Given the description of an element on the screen output the (x, y) to click on. 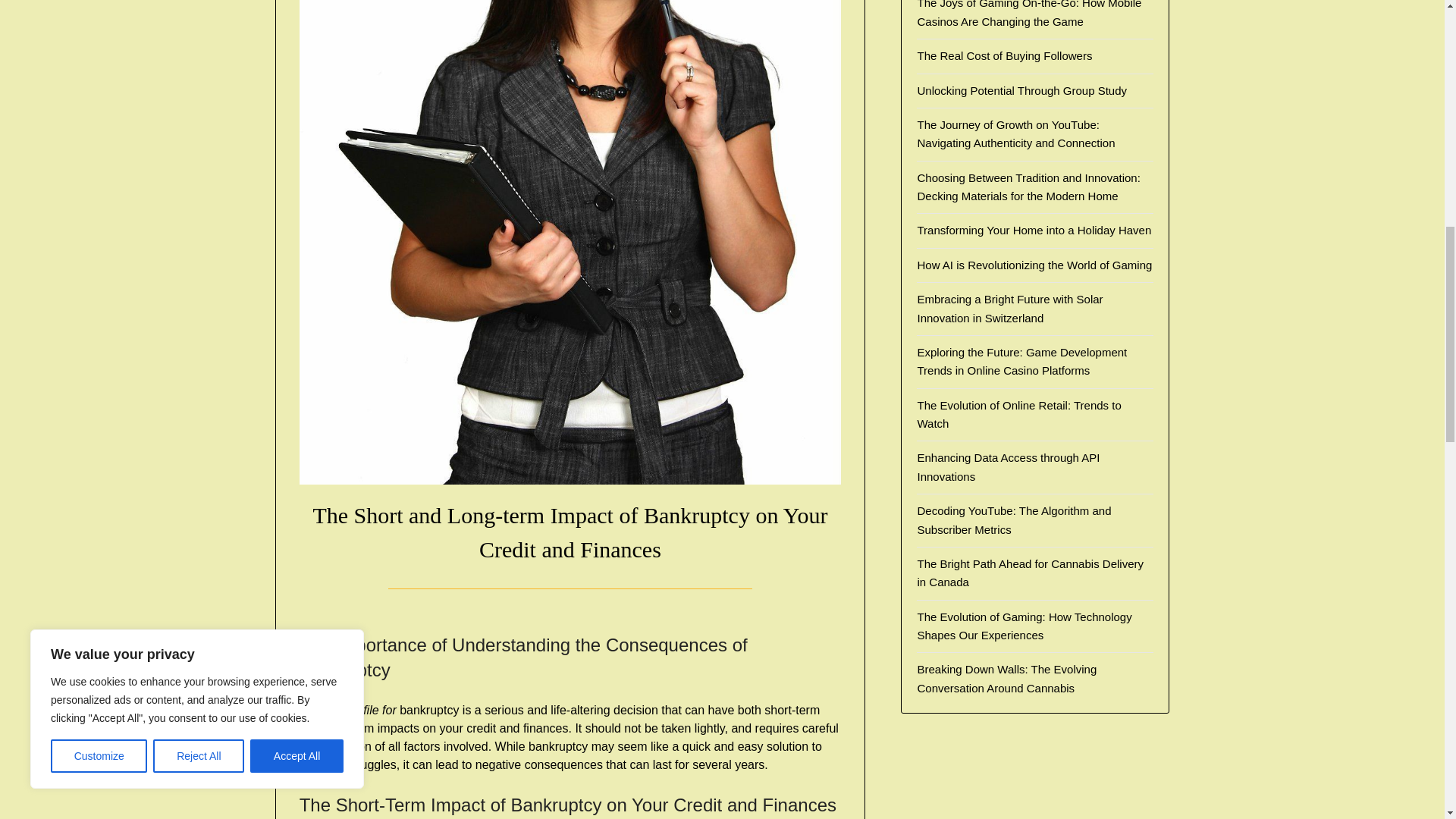
The Real Cost of Buying Followers (1004, 55)
How AI is Revolutionizing the World of Gaming (1034, 264)
Transforming Your Home into a Holiday Haven (1034, 229)
Unlocking Potential Through Group Study (1021, 90)
